Given the description of an element on the screen output the (x, y) to click on. 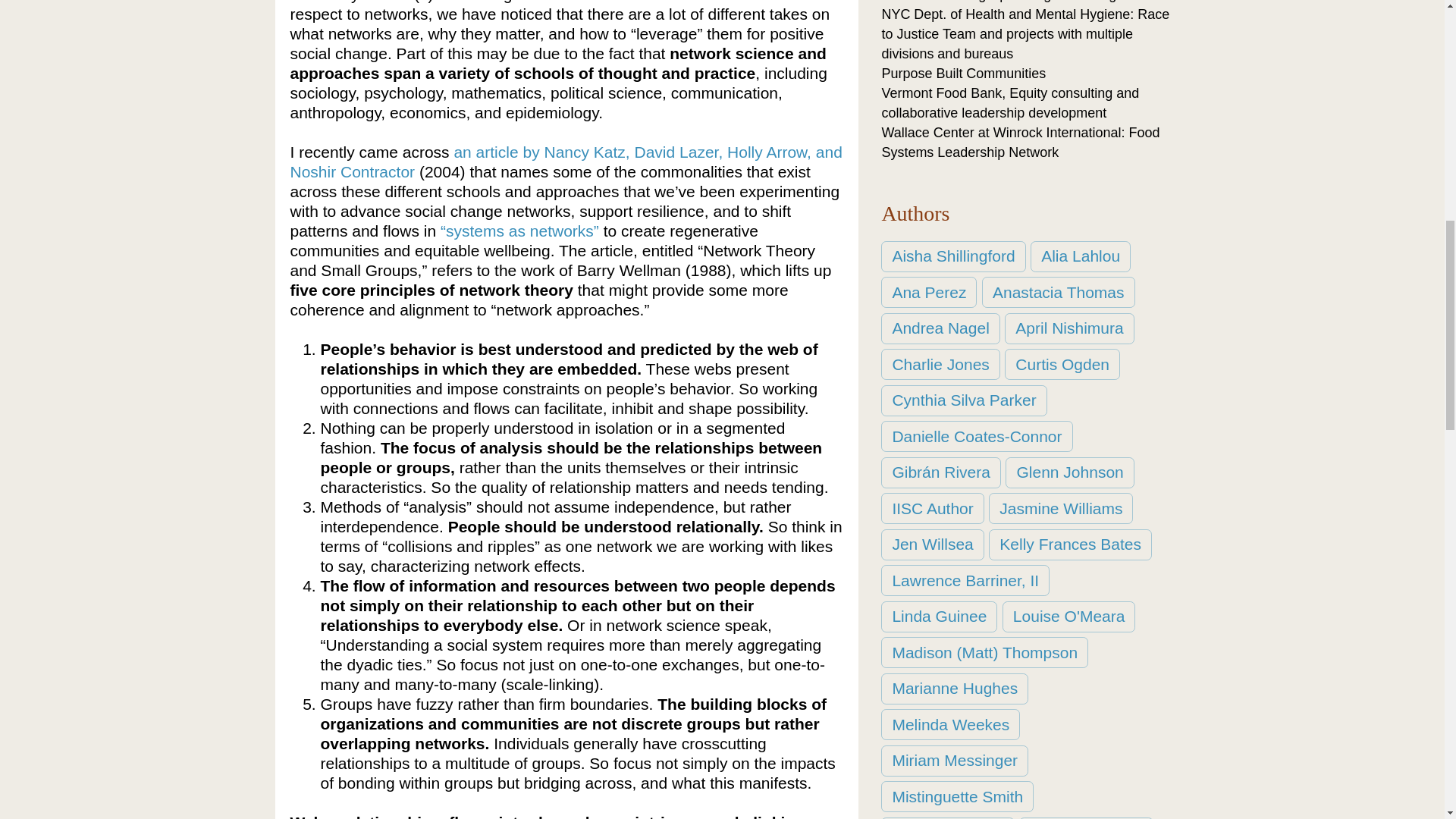
Posts by Kelly Bates (1069, 544)
Posts by Glenn Johnson (1070, 471)
Posts by Curtis Ogden (1061, 364)
Posts by Alia Lahlou (1080, 255)
Posts by IISC (932, 508)
Alia Lahlou (1080, 255)
Posts by Aisha Shillingford (952, 255)
Posts by Charlie Jones (939, 364)
Posts by Danielle Coates-Connor (975, 436)
Purpose Built Communities (962, 72)
Posts by Anastacia Thomas (1058, 291)
Posts by Lawrence (964, 580)
